Given the description of an element on the screen output the (x, y) to click on. 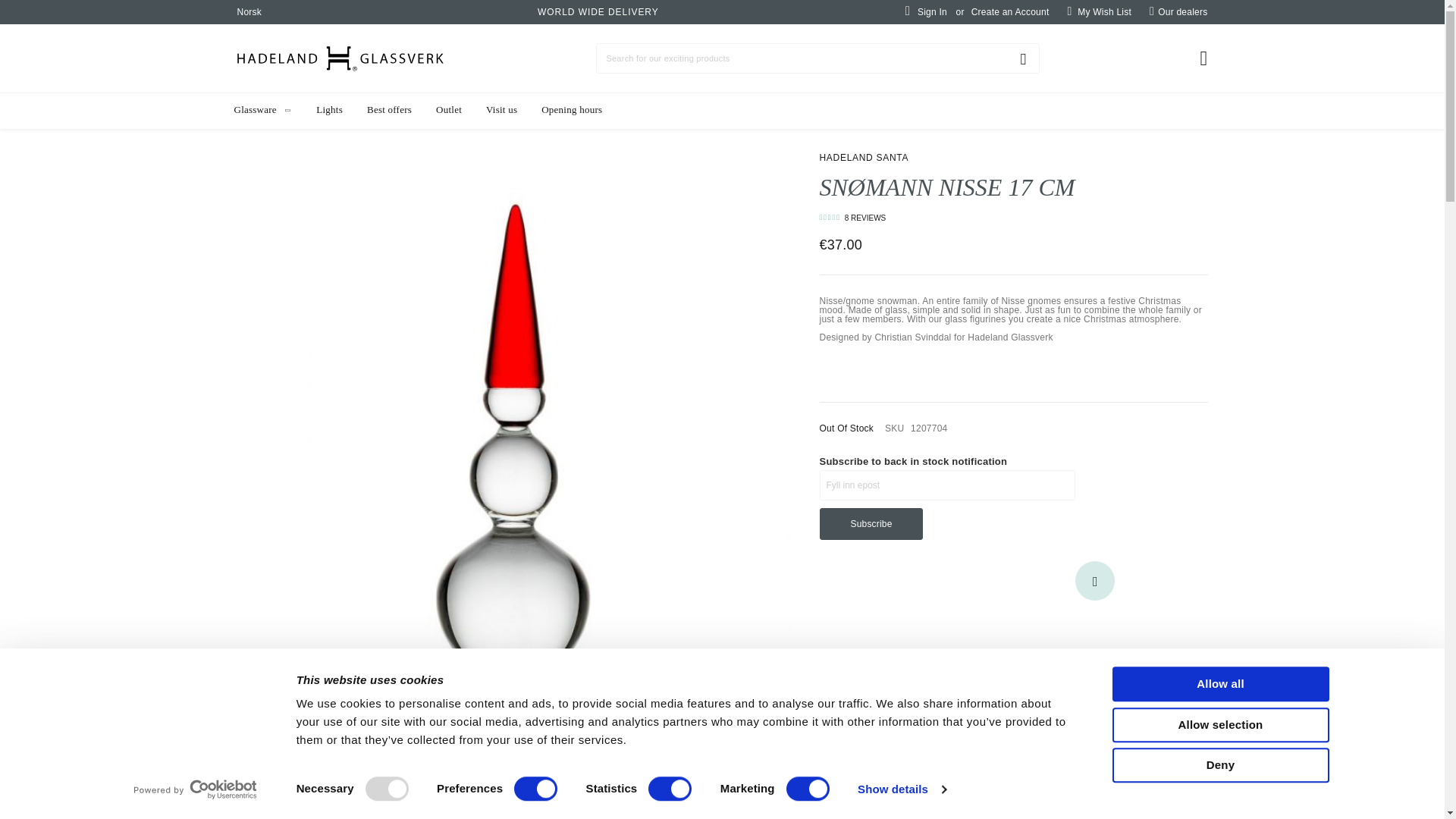
Show details (900, 789)
